Given the description of an element on the screen output the (x, y) to click on. 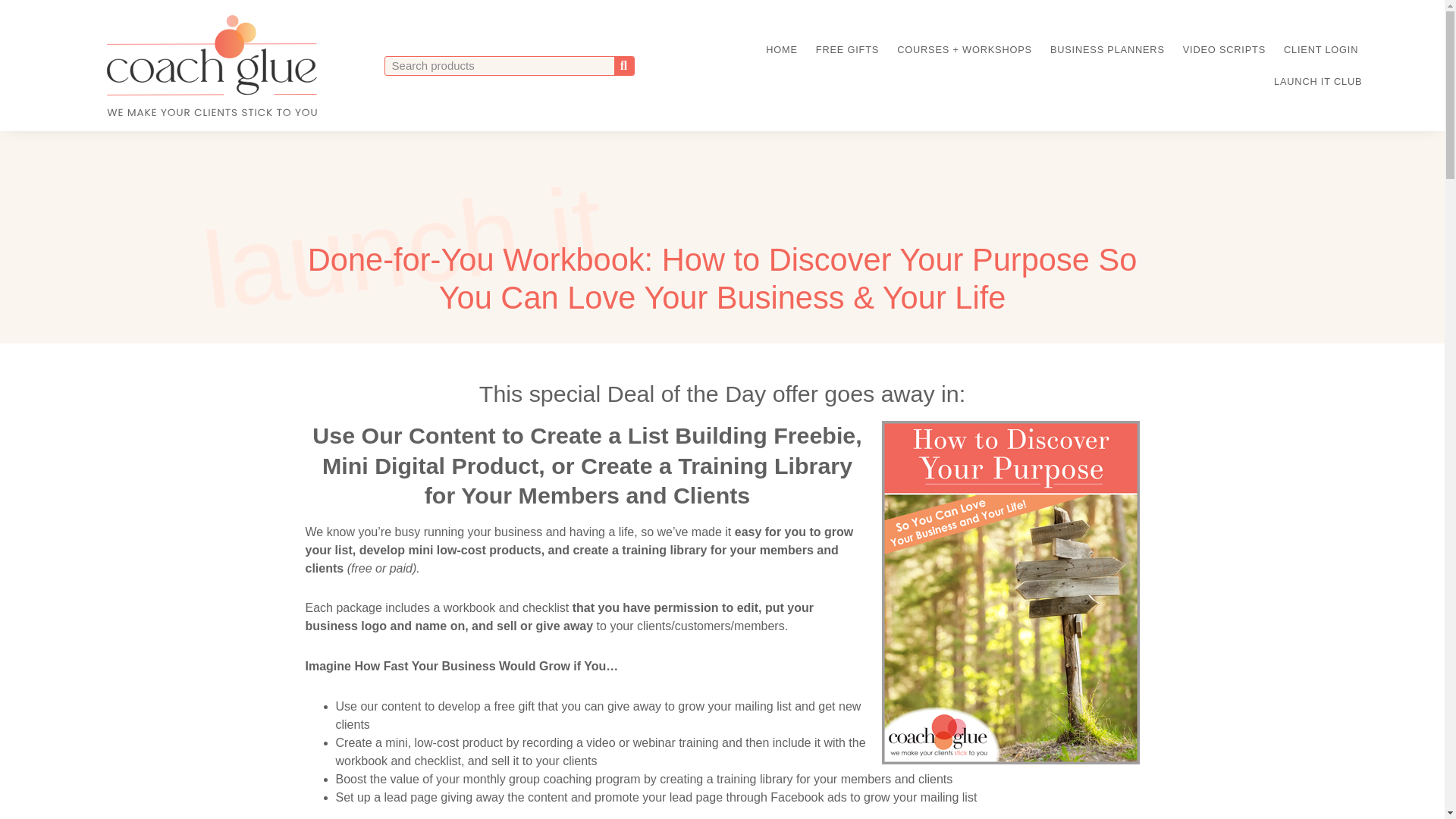
BUSINESS PLANNERS (1107, 49)
HOME (781, 49)
CLIENT LOGIN (1320, 49)
LAUNCH IT CLUB (1317, 81)
VIDEO SCRIPTS (1224, 49)
FREE GIFTS (846, 49)
